Given the description of an element on the screen output the (x, y) to click on. 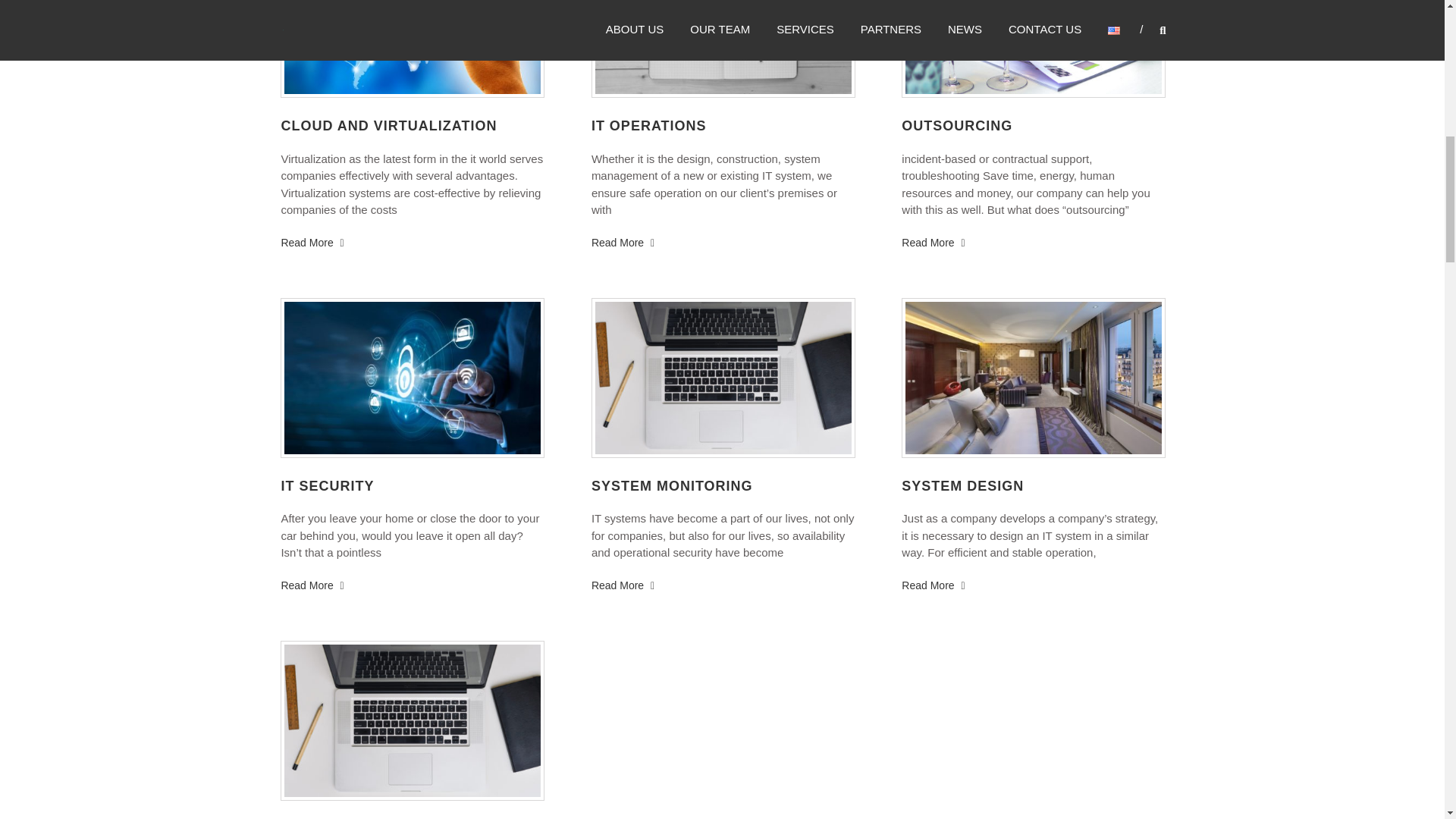
Read More (932, 585)
Read More (622, 242)
SYSTEM DESIGN (962, 485)
System Design (962, 485)
IT Operations (648, 125)
Cloud and virtualization (388, 125)
Read More (622, 585)
IT Operations (622, 242)
System Monitoring (622, 585)
System Monitoring (671, 485)
Read More (312, 585)
IT Security (327, 485)
CLOUD AND VIRTUALIZATION (388, 125)
SYSTEM MONITORING (671, 485)
Read More (312, 242)
